Given the description of an element on the screen output the (x, y) to click on. 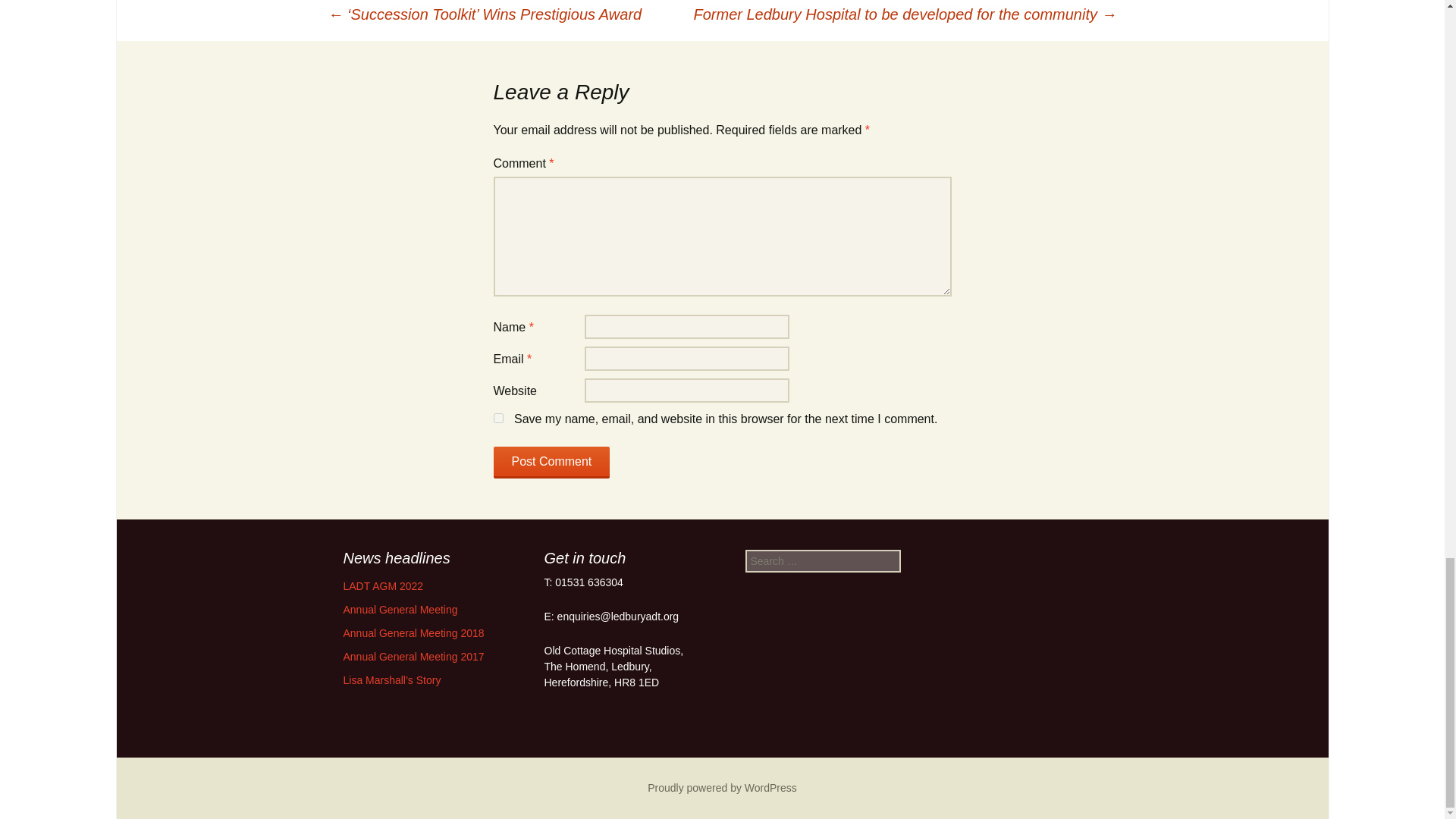
LADT AGM 2022 (382, 585)
Proudly powered by WordPress (721, 787)
Post Comment (551, 462)
Annual General Meeting (399, 609)
Post Comment (551, 462)
Annual General Meeting 2017 (412, 656)
yes (497, 418)
Annual General Meeting 2018 (412, 633)
